Given the description of an element on the screen output the (x, y) to click on. 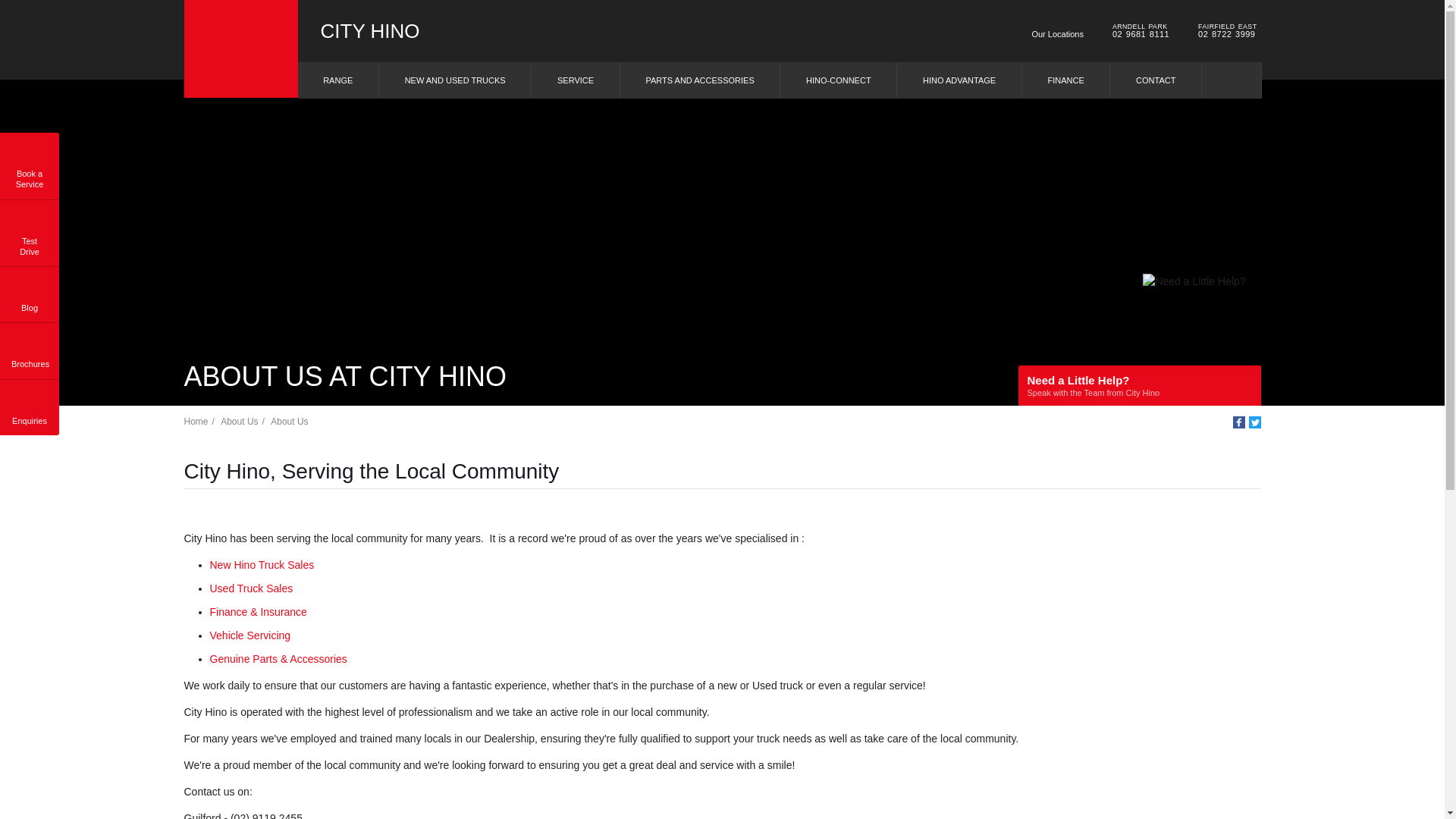
Blog (28, 291)
City Hino (369, 31)
Enquiries (28, 404)
NEW AND USED TRUCKS (454, 80)
CITY HINO (369, 31)
Facebook (1238, 422)
City Hino (240, 48)
Twitter (1253, 422)
Brochures (28, 347)
RANGE (337, 80)
